Given the description of an element on the screen output the (x, y) to click on. 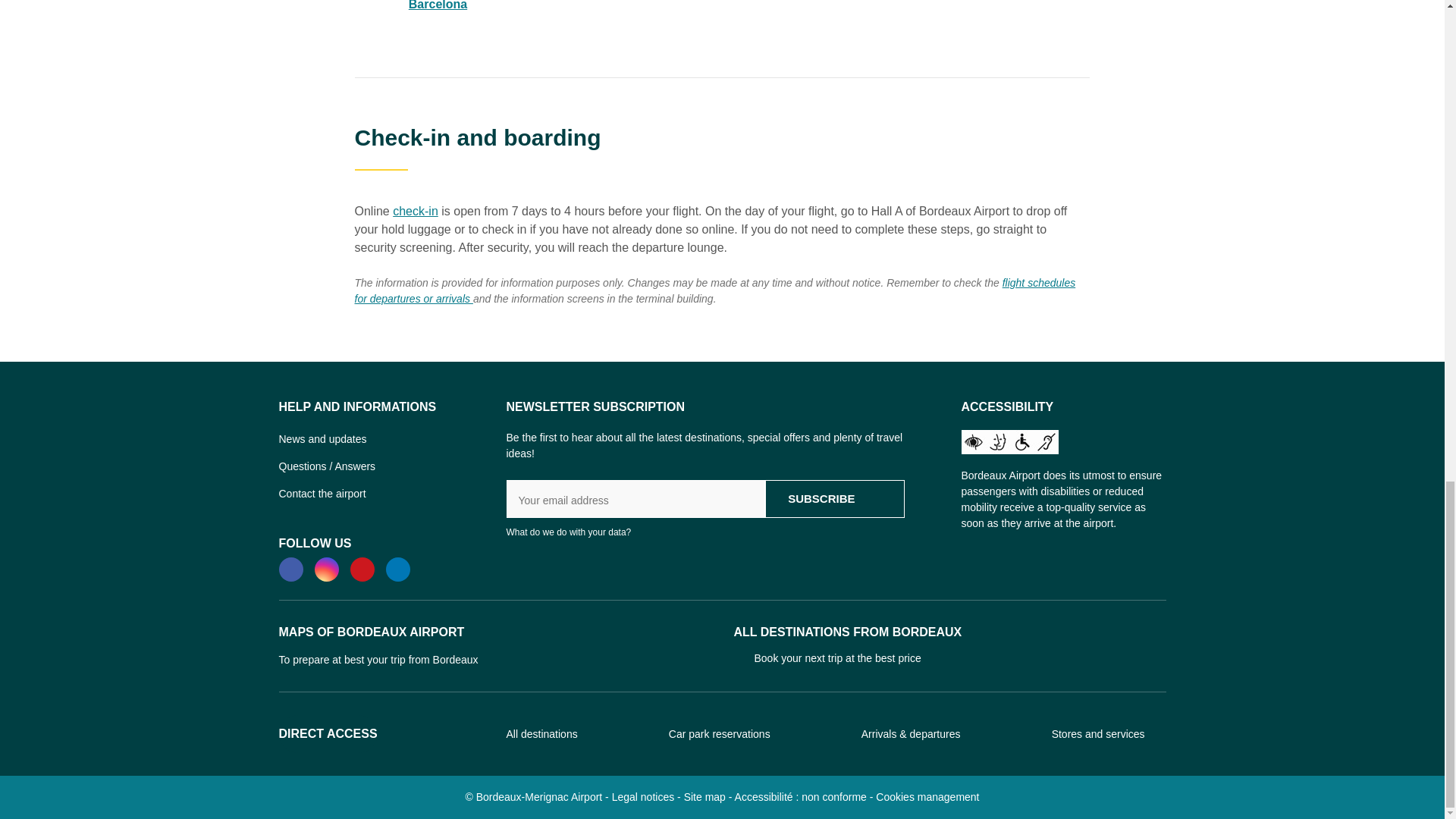
Facebook  - new window (290, 569)
Youtube  - new window (362, 569)
Linkedin  - new window (397, 569)
Instagram  - new window (325, 569)
